Given the description of an element on the screen output the (x, y) to click on. 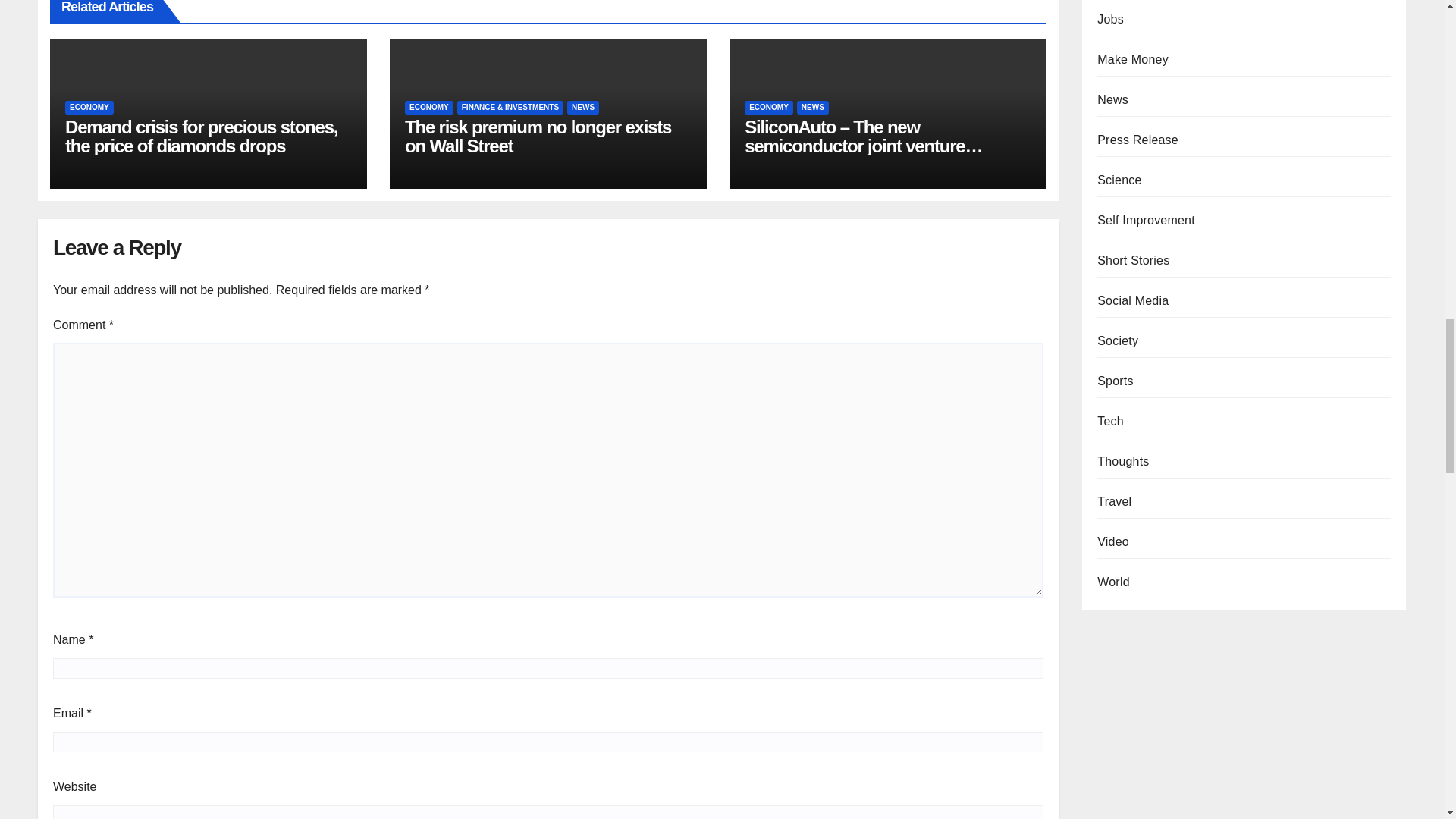
ECONOMY (428, 107)
ECONOMY (89, 107)
